Given the description of an element on the screen output the (x, y) to click on. 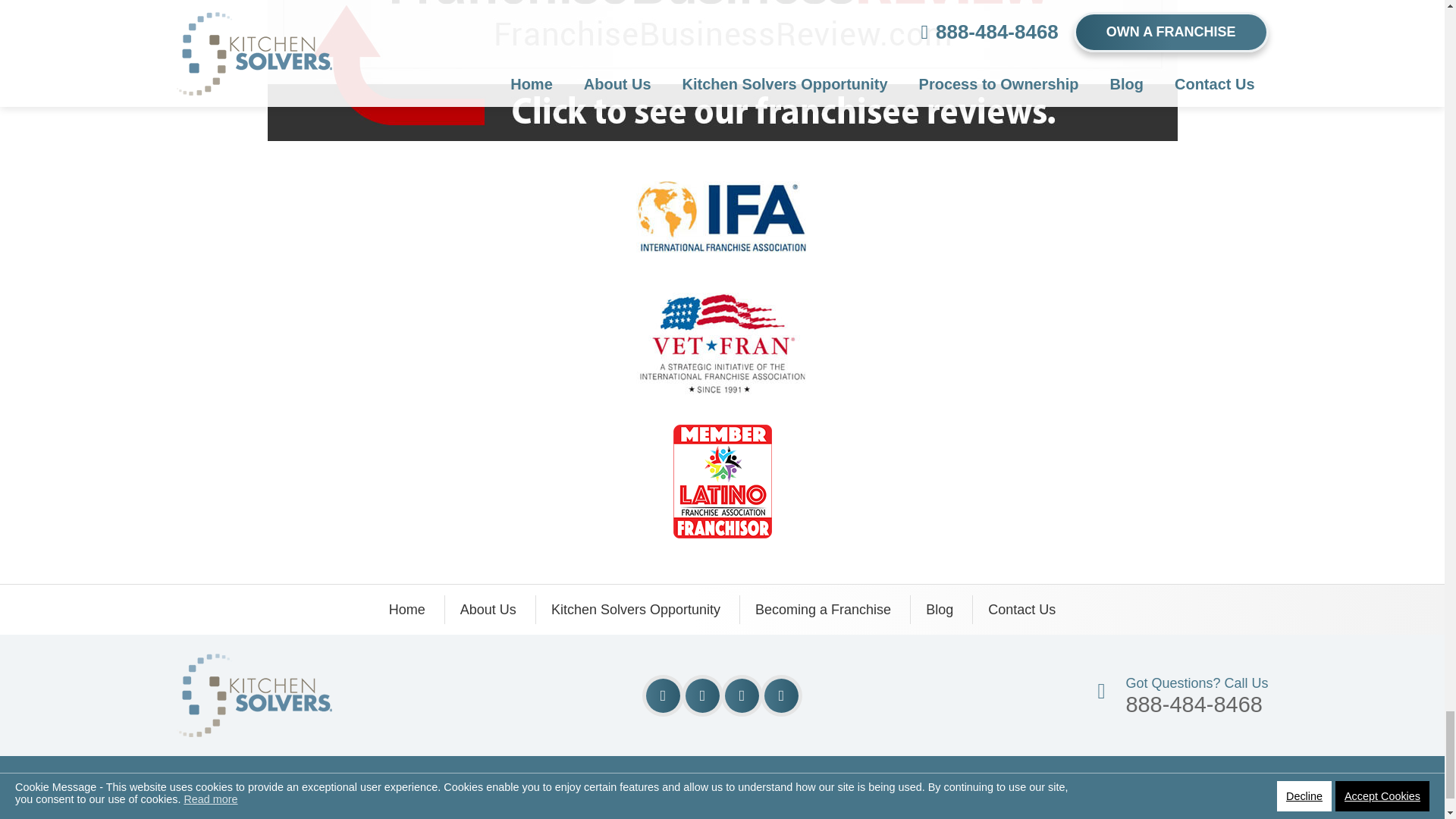
Kitchen Solvers (253, 663)
